Given the description of an element on the screen output the (x, y) to click on. 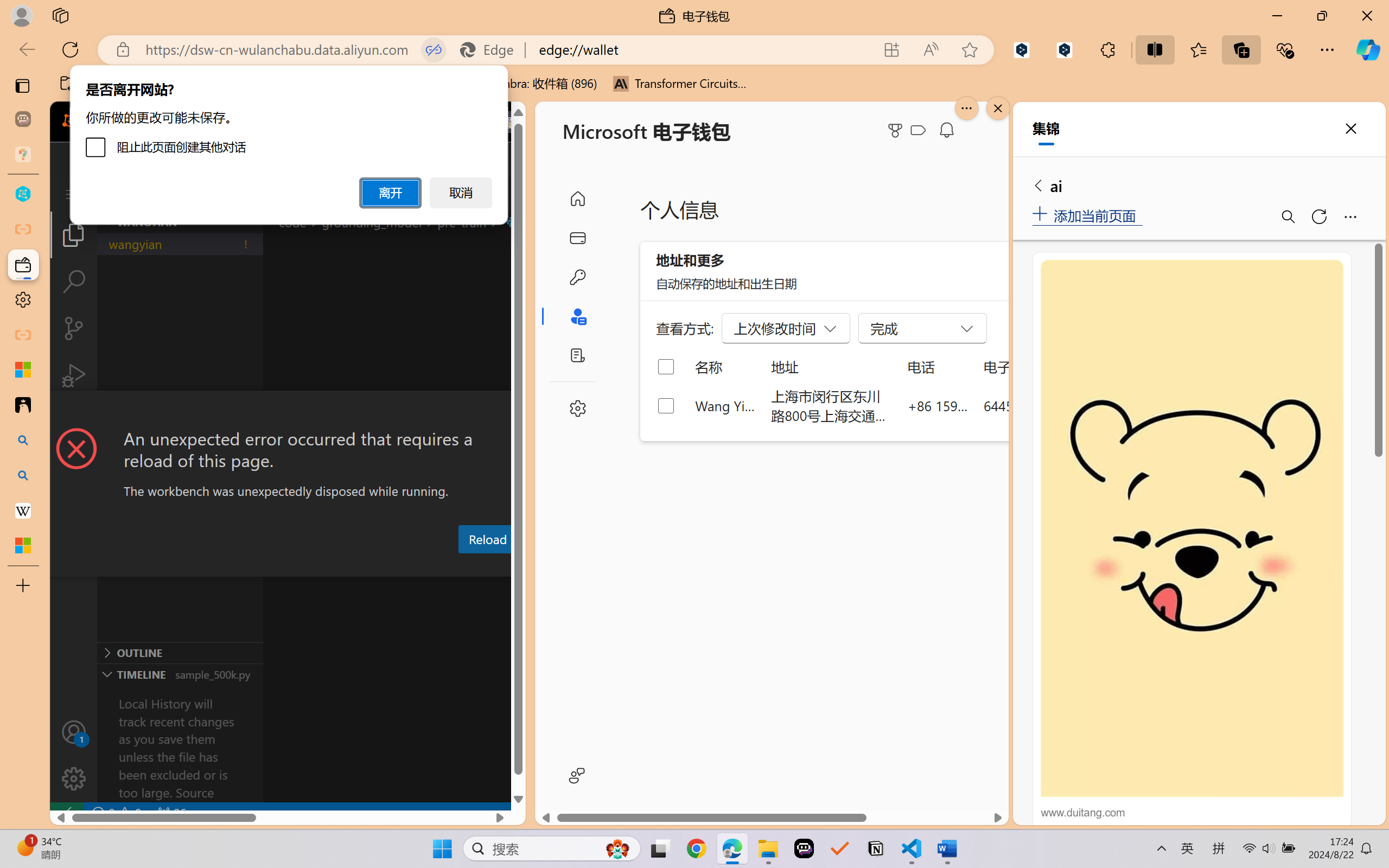
Problems (Ctrl+Shift+M) (308, 565)
remote (66, 812)
Close Dialog (520, 410)
Timeline Section (179, 673)
Microsoft security help and learning (22, 369)
